Given the description of an element on the screen output the (x, y) to click on. 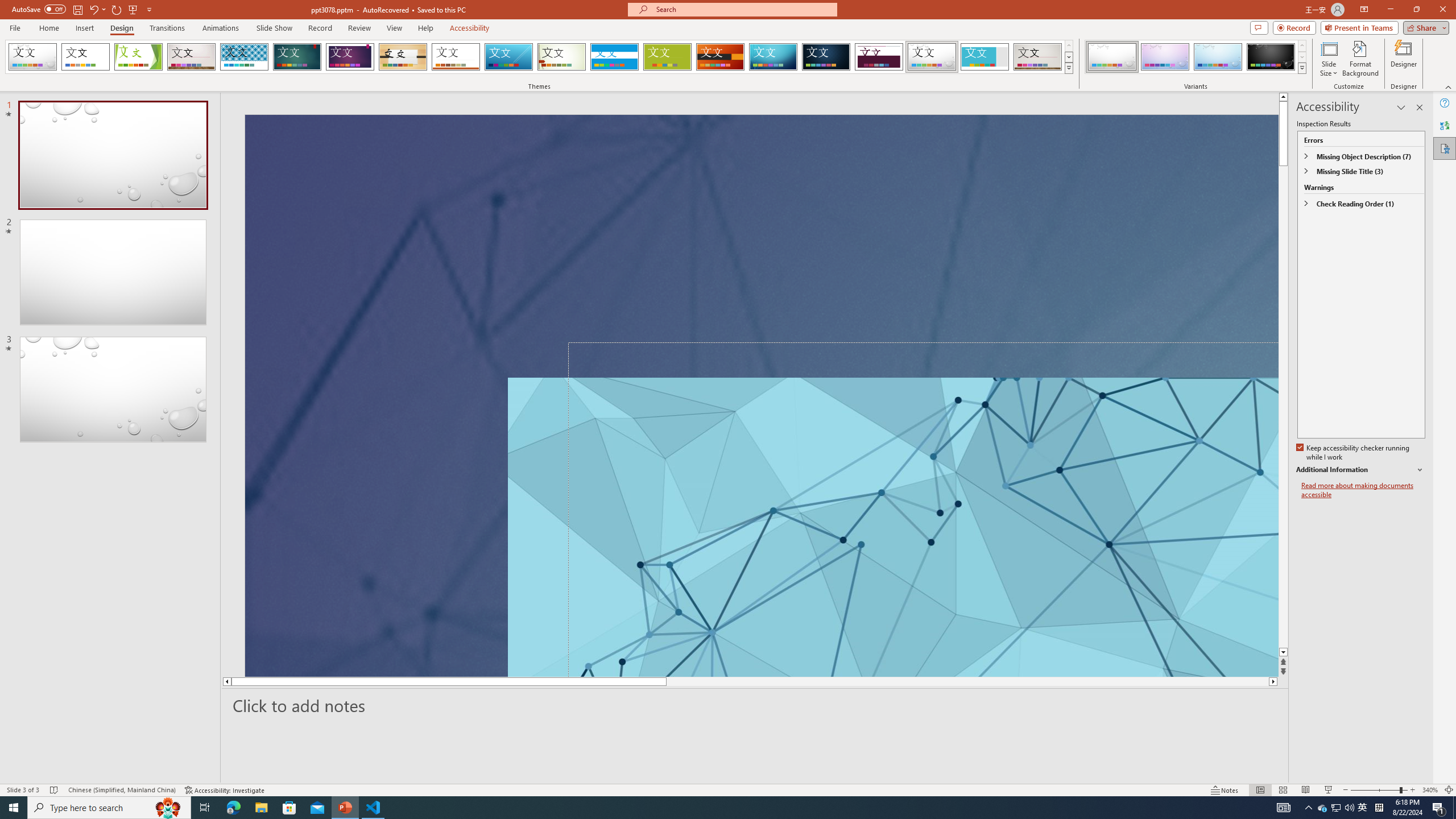
AutomationID: SlideThemesGallery (539, 56)
Dividend (879, 56)
Gallery (1037, 56)
Keep accessibility checker running while I work (1353, 452)
Droplet Variant 3 (1217, 56)
Damask (826, 56)
